Given the description of an element on the screen output the (x, y) to click on. 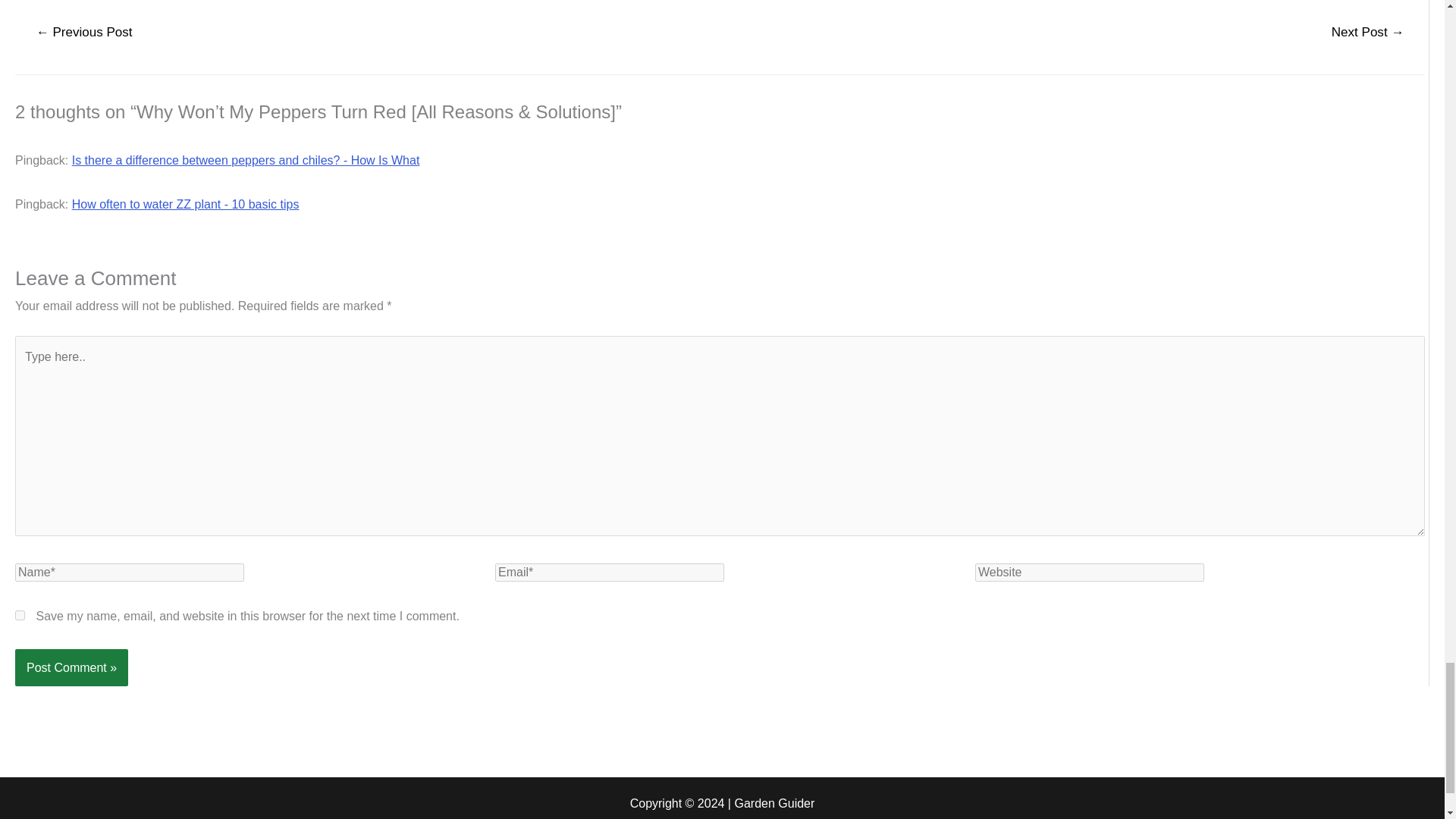
yes (19, 614)
